Given the description of an element on the screen output the (x, y) to click on. 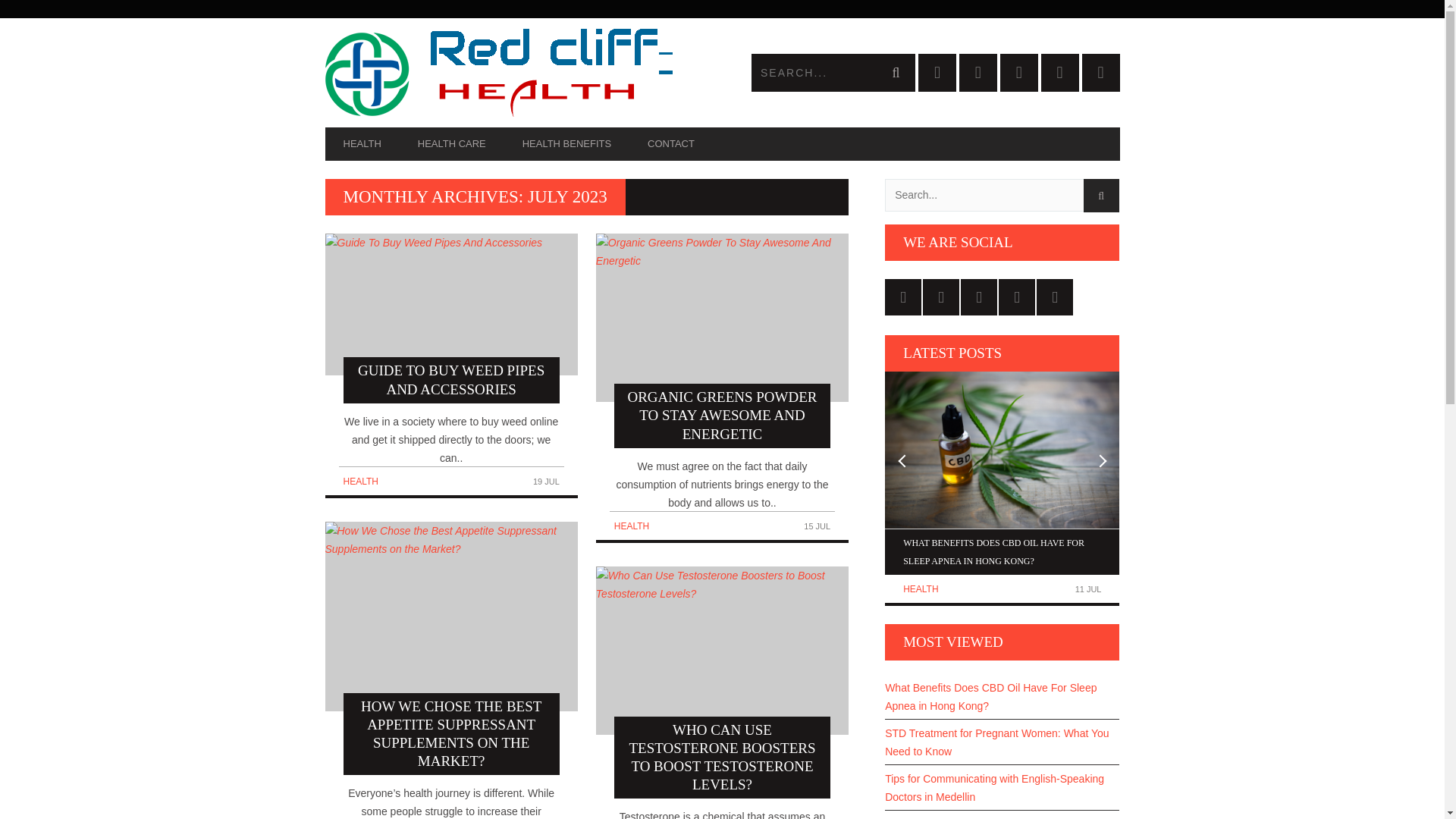
Write your fitness ideas here (523, 72)
GUIDE TO BUY WEED PIPES AND ACCESSORIES (450, 317)
ORGANIC GREENS POWDER TO STAY AWESOME AND ENERGETIC (721, 340)
HEALTH (359, 480)
HEALTH BENEFITS (565, 144)
HEALTH (361, 144)
HEALTH (919, 588)
HEALTH CARE (450, 144)
CONTACT (670, 144)
STD Treatment for Pregnant Women: What You Need to Know (1002, 741)
View all posts in Health (919, 588)
